Given the description of an element on the screen output the (x, y) to click on. 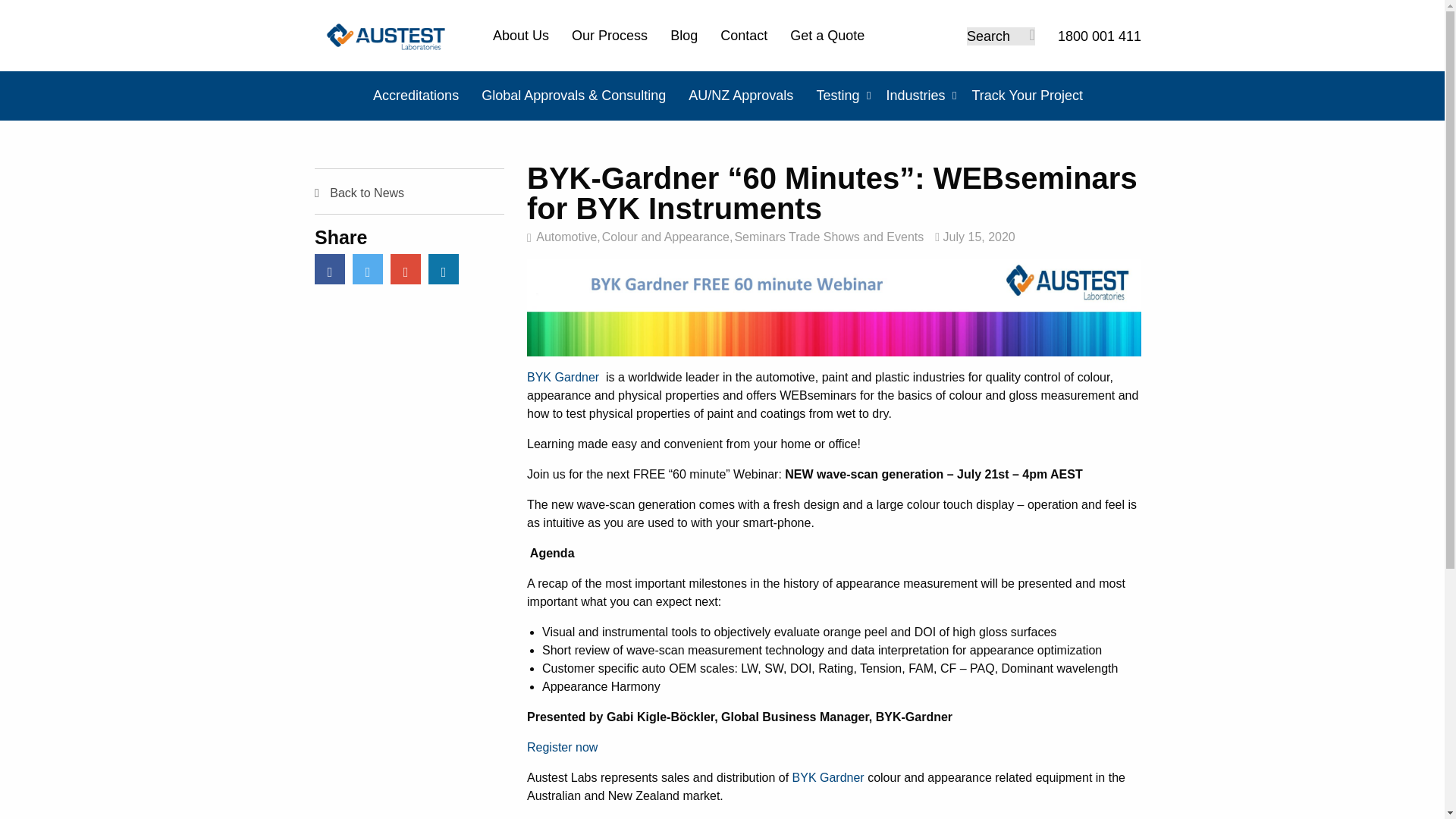
Blog (683, 35)
About Us (520, 35)
Contact (743, 35)
1800 001 411 (1099, 36)
Our Process (609, 35)
Industries (914, 95)
Testing (837, 95)
Get a Quote (827, 35)
Accreditations (415, 95)
